Given the description of an element on the screen output the (x, y) to click on. 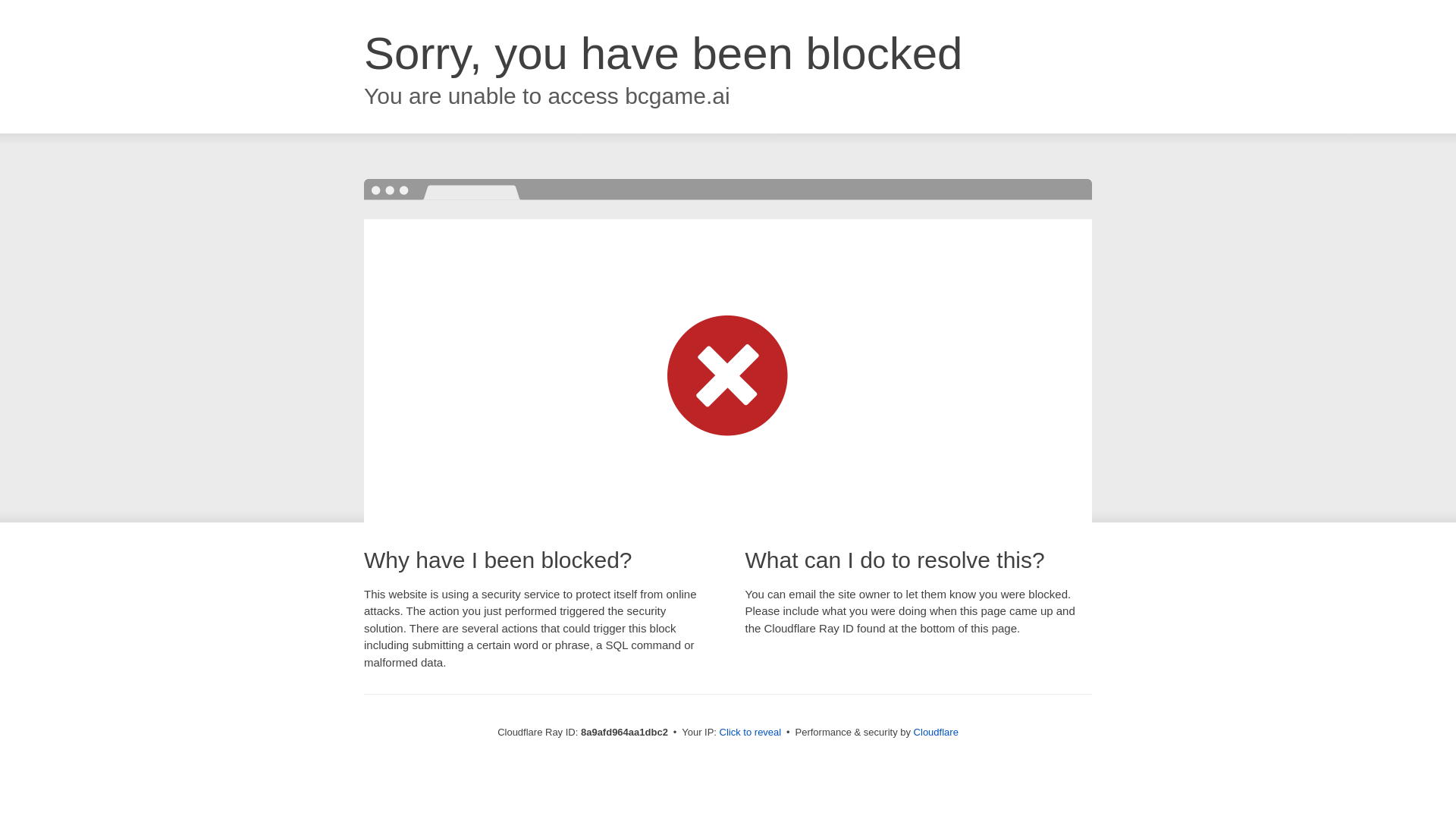
Click to reveal (750, 732)
Cloudflare (936, 731)
